Given the description of an element on the screen output the (x, y) to click on. 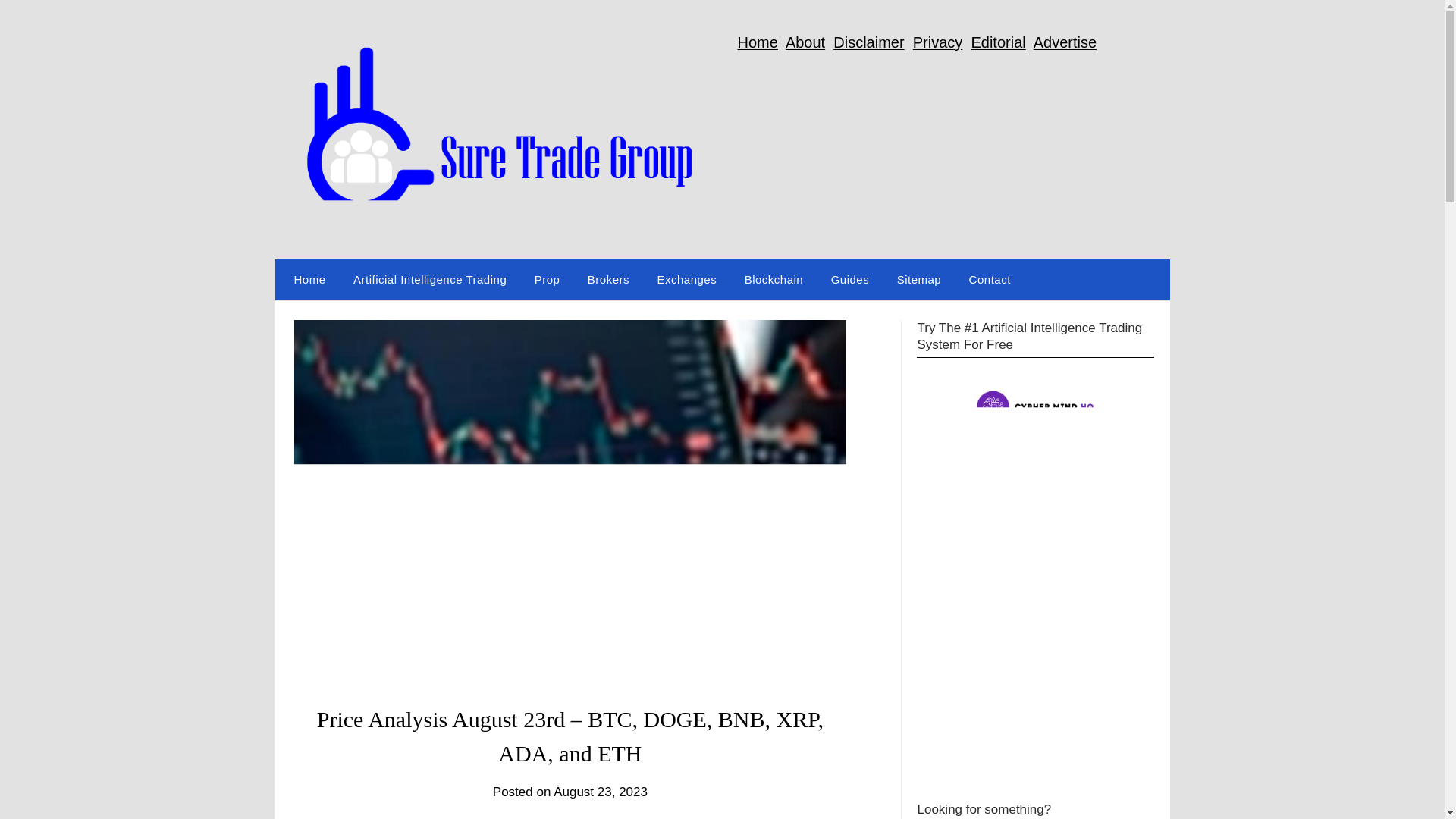
Contact (989, 279)
Exchanges (687, 279)
Artificial Intelligence Trading (429, 279)
Brokers (608, 279)
Search (38, 22)
Home (306, 279)
Prop (547, 279)
Guides (850, 279)
Disclaimer (868, 42)
